Given the description of an element on the screen output the (x, y) to click on. 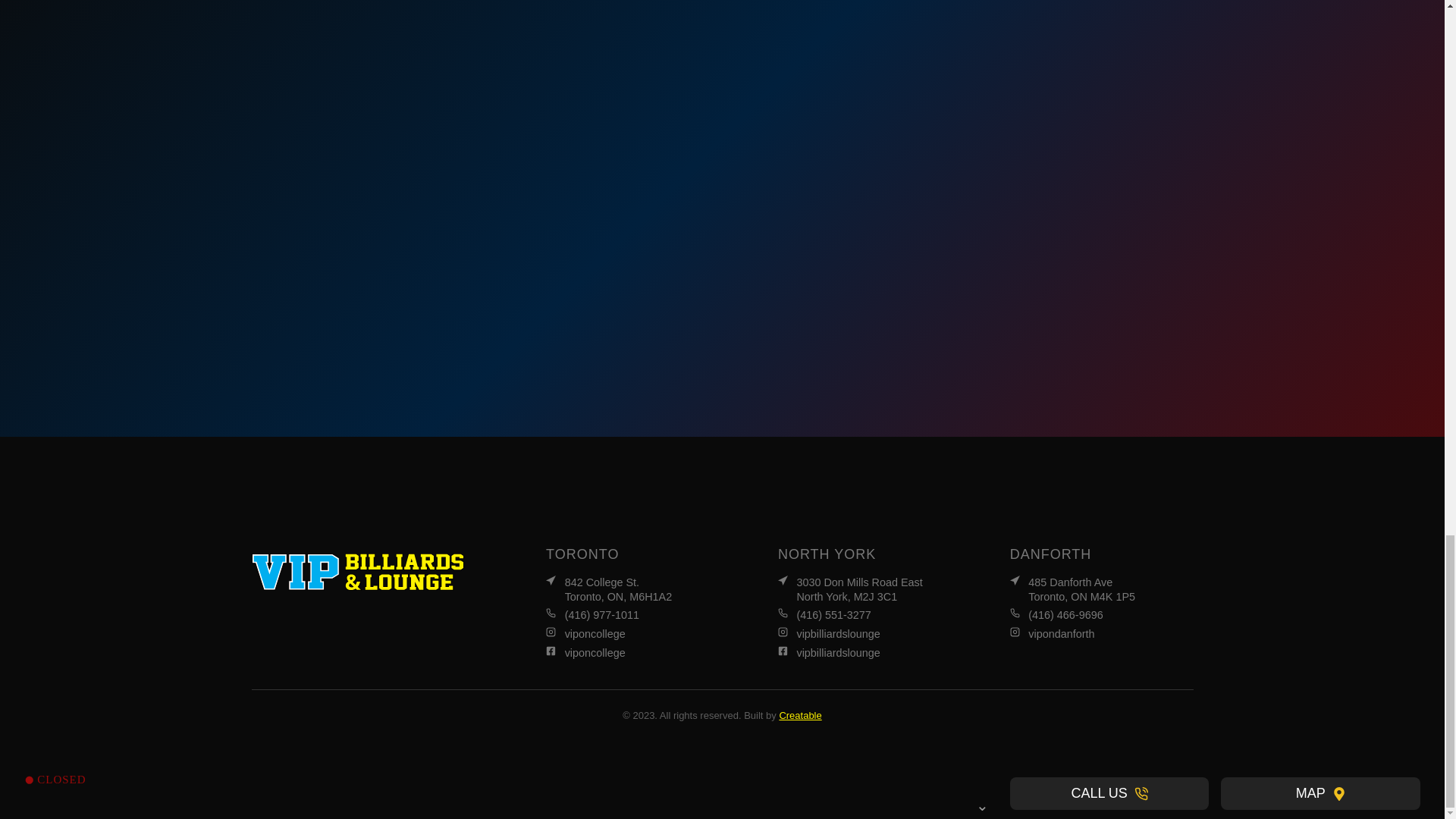
viponcollege (637, 634)
Creatable (799, 714)
vipbilliardslounge (868, 653)
vipbilliardslounge (868, 589)
viponcollege (868, 634)
vipondanforth (637, 653)
